Given the description of an element on the screen output the (x, y) to click on. 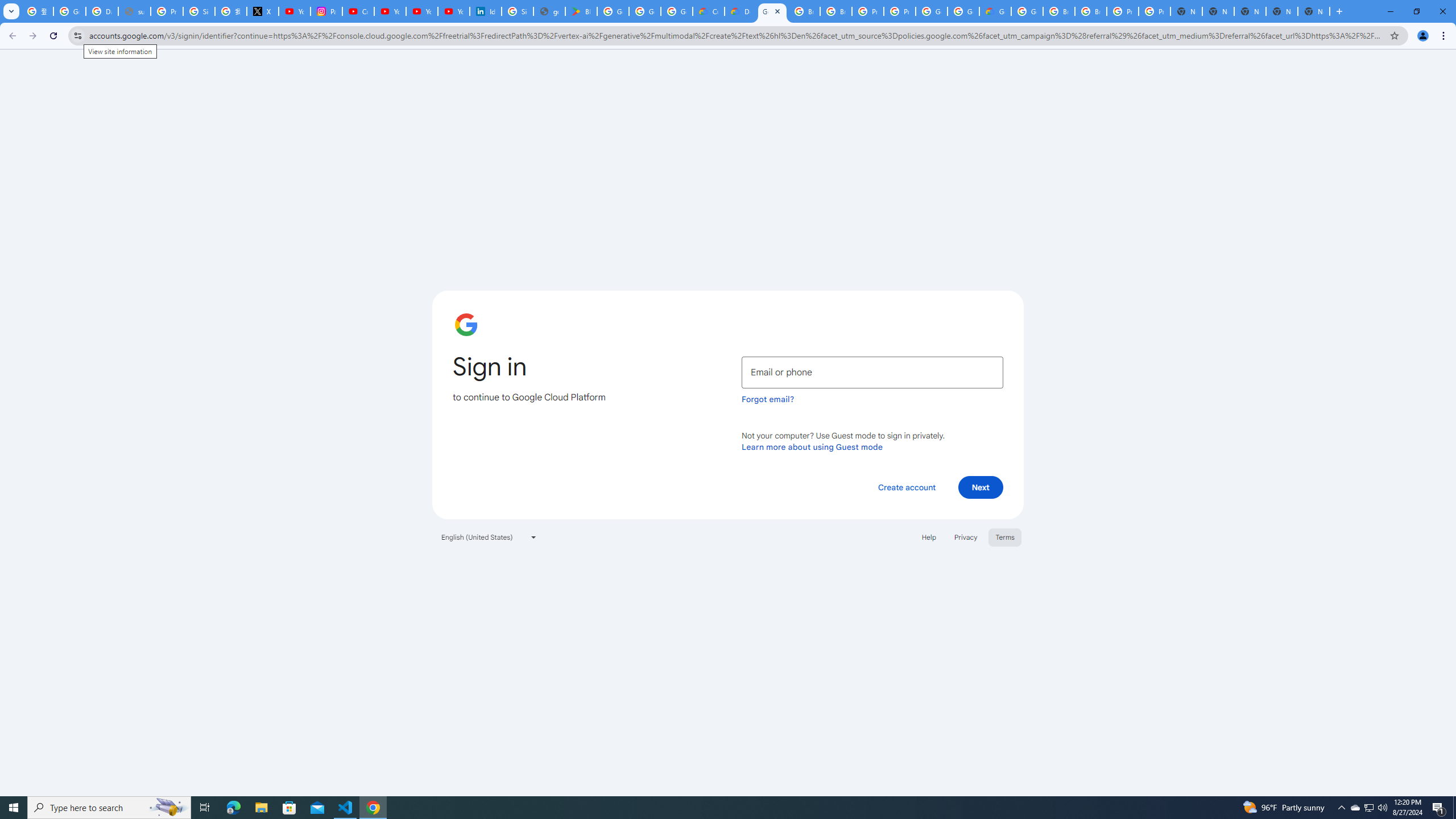
Google Workspace - Specific Terms (676, 11)
Google Cloud Estimate Summary (995, 11)
English (United States) (489, 536)
